Given the description of an element on the screen output the (x, y) to click on. 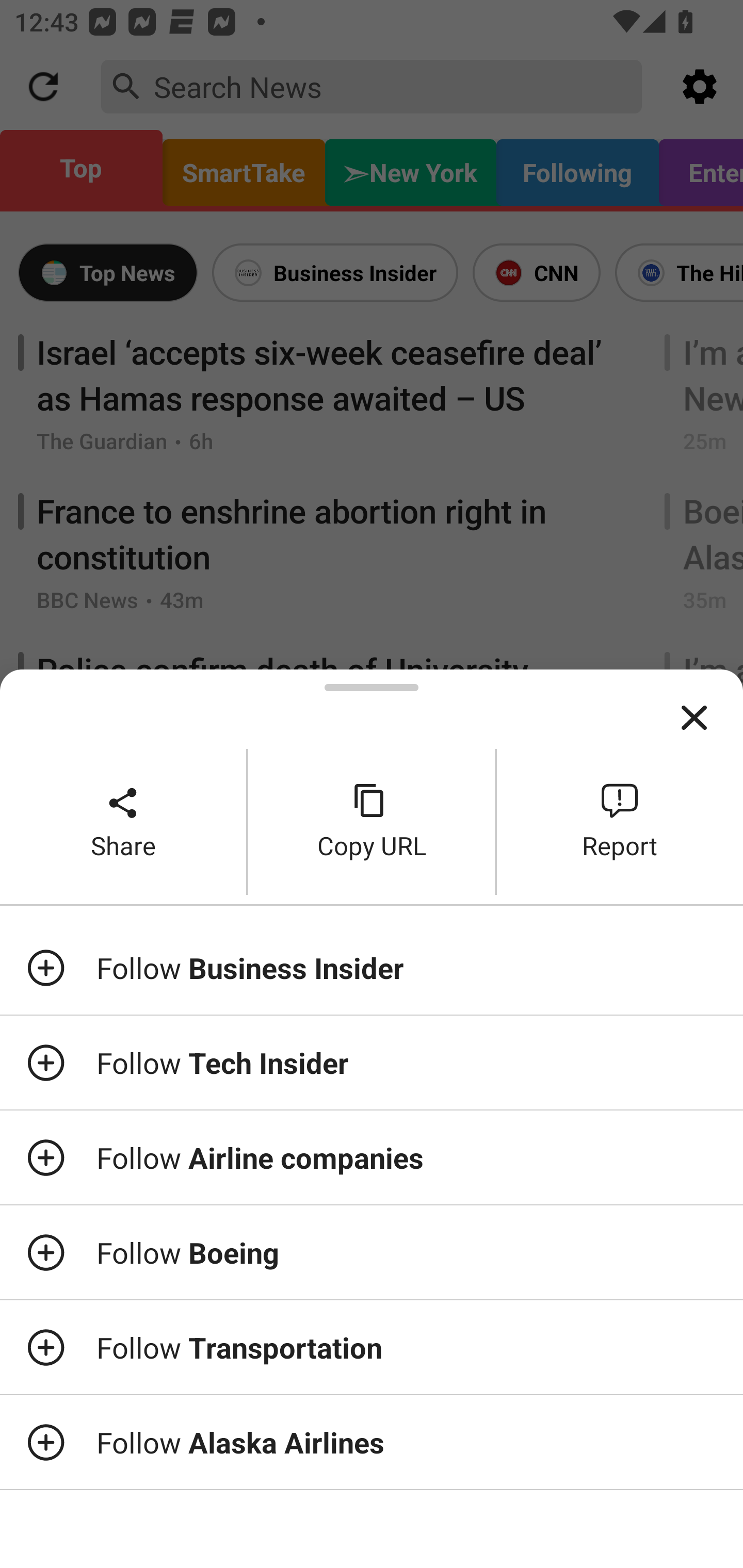
Close (694, 717)
Share (122, 822)
Copy URL (371, 822)
Report (620, 822)
Follow Business Insider (371, 967)
Follow Tech Insider (371, 1063)
Follow Airline companies (371, 1157)
Follow Boeing (371, 1252)
Follow Transportation (371, 1346)
Follow Alaska Airlines (371, 1442)
